Given the description of an element on the screen output the (x, y) to click on. 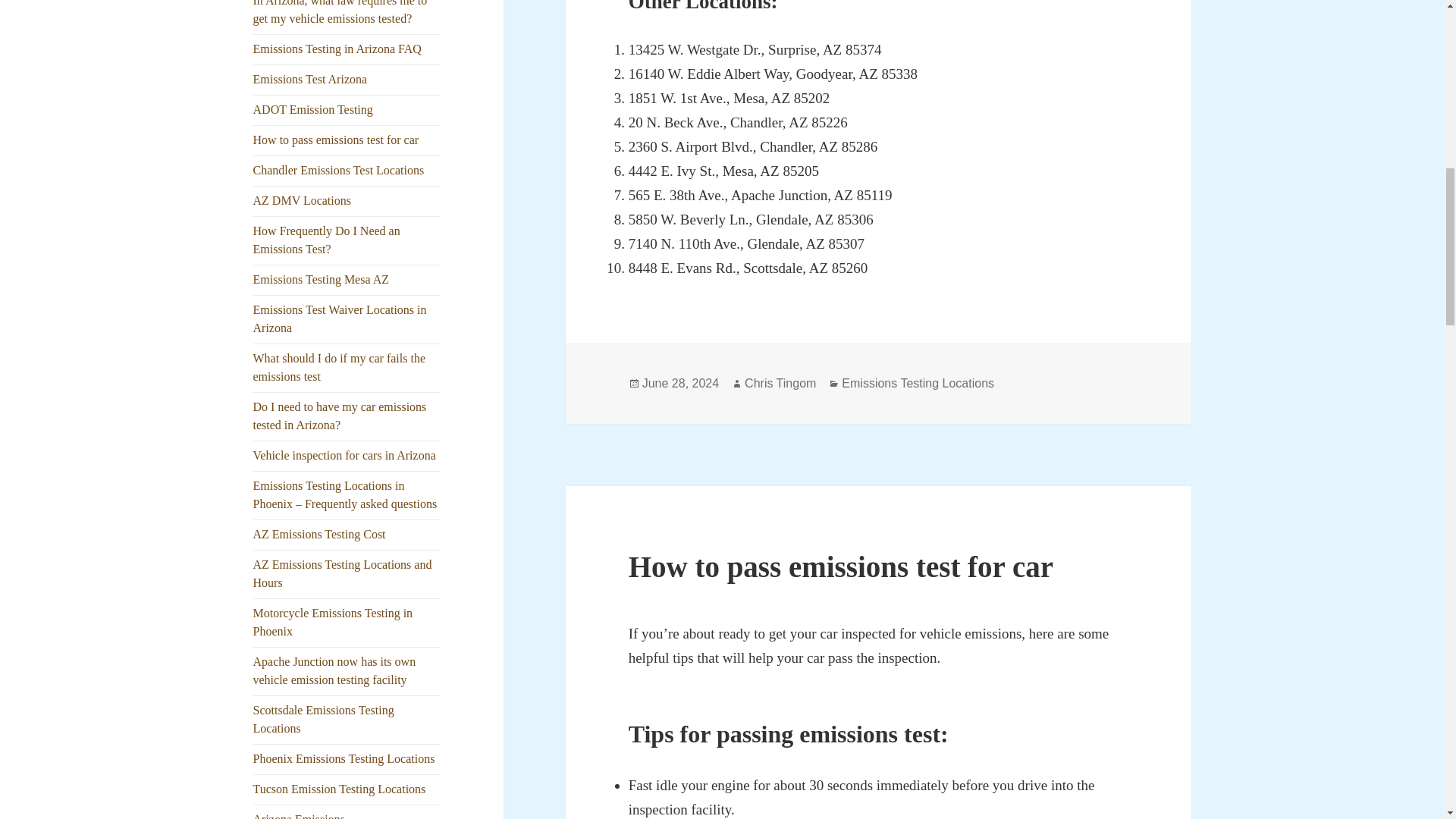
Emissions Testing in Arizona FAQ (337, 48)
Tucson Emission Testing Locations (339, 788)
Phoenix Emissions Testing Locations (344, 758)
Chandler Emissions Test Locations (339, 169)
AZ DMV Locations (301, 200)
Emissions Test Arizona (310, 78)
How Frequently Do I Need an Emissions Test? (326, 239)
AZ Emissions Testing Locations and Hours (342, 572)
Scottsdale Emissions Testing Locations (323, 718)
ADOT Emission Testing (312, 109)
Motorcycle Emissions Testing in Phoenix (333, 622)
Emissions Test Waiver Locations in Arizona (339, 318)
AZ Emissions Testing Cost (319, 533)
Vehicle inspection for cars in Arizona (344, 454)
